Given the description of an element on the screen output the (x, y) to click on. 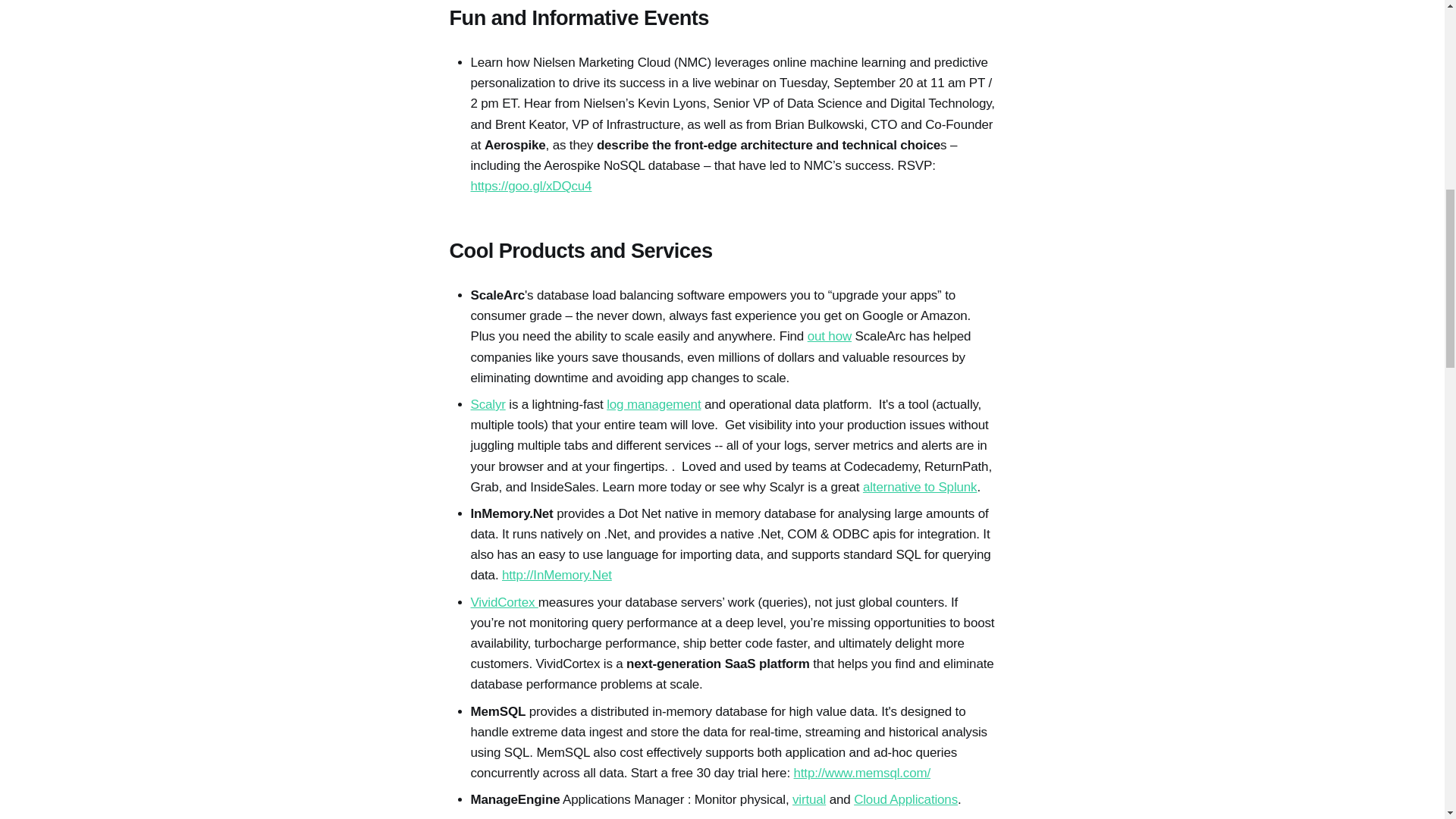
virtual (808, 799)
VividCortex (503, 602)
Cloud Applications (905, 799)
log management (653, 404)
alternative to Splunk (919, 486)
out how (829, 336)
Scalyr (487, 404)
